Given the description of an element on the screen output the (x, y) to click on. 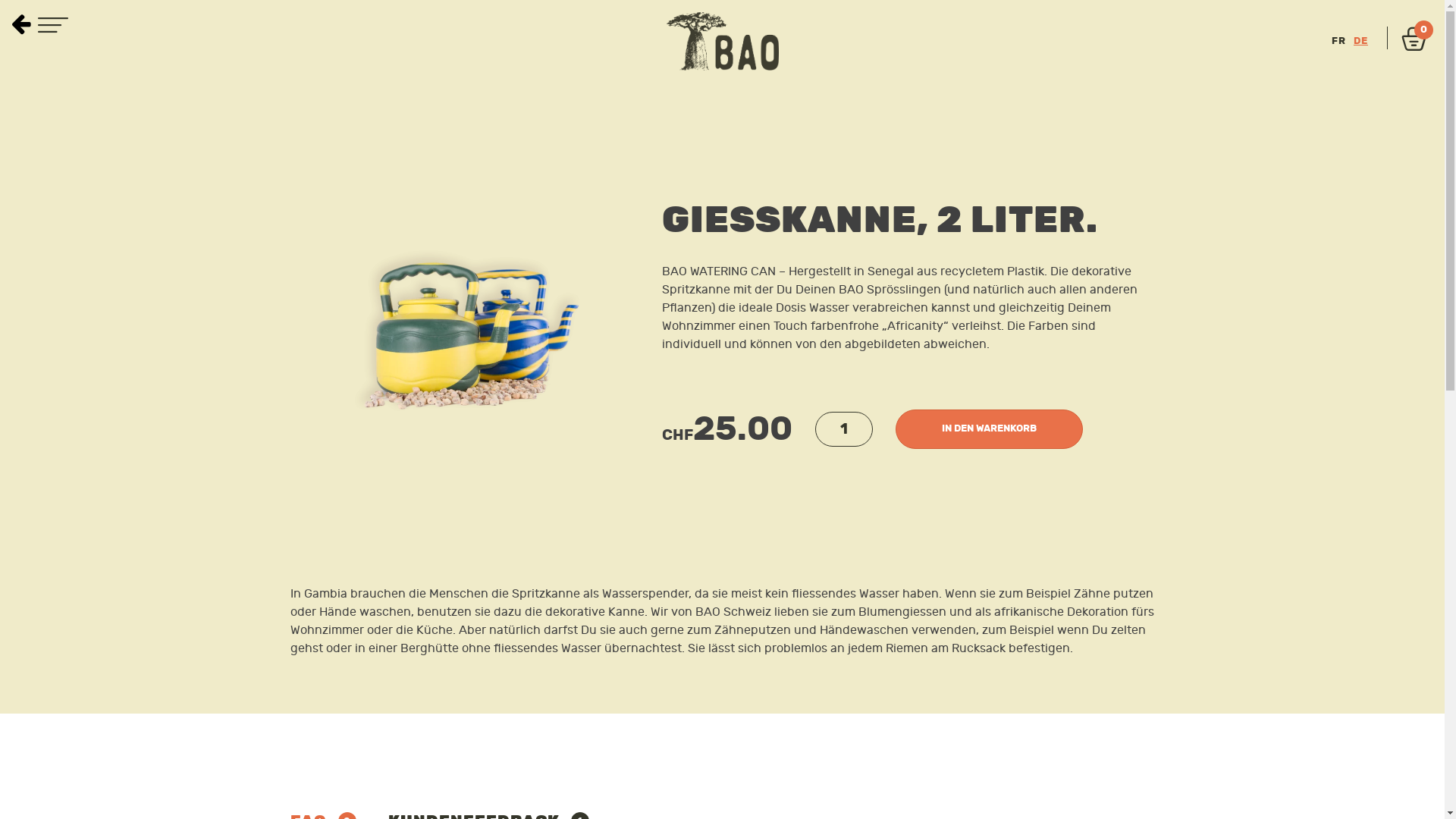
FR Element type: text (1338, 40)
Toggle navigation Element type: text (52, 26)
DE Element type: text (1360, 40)
Toggle navigation
0 Element type: text (1409, 41)
Bao Element type: text (721, 41)
IN DEN WARENKORB Element type: text (988, 428)
